Given the description of an element on the screen output the (x, y) to click on. 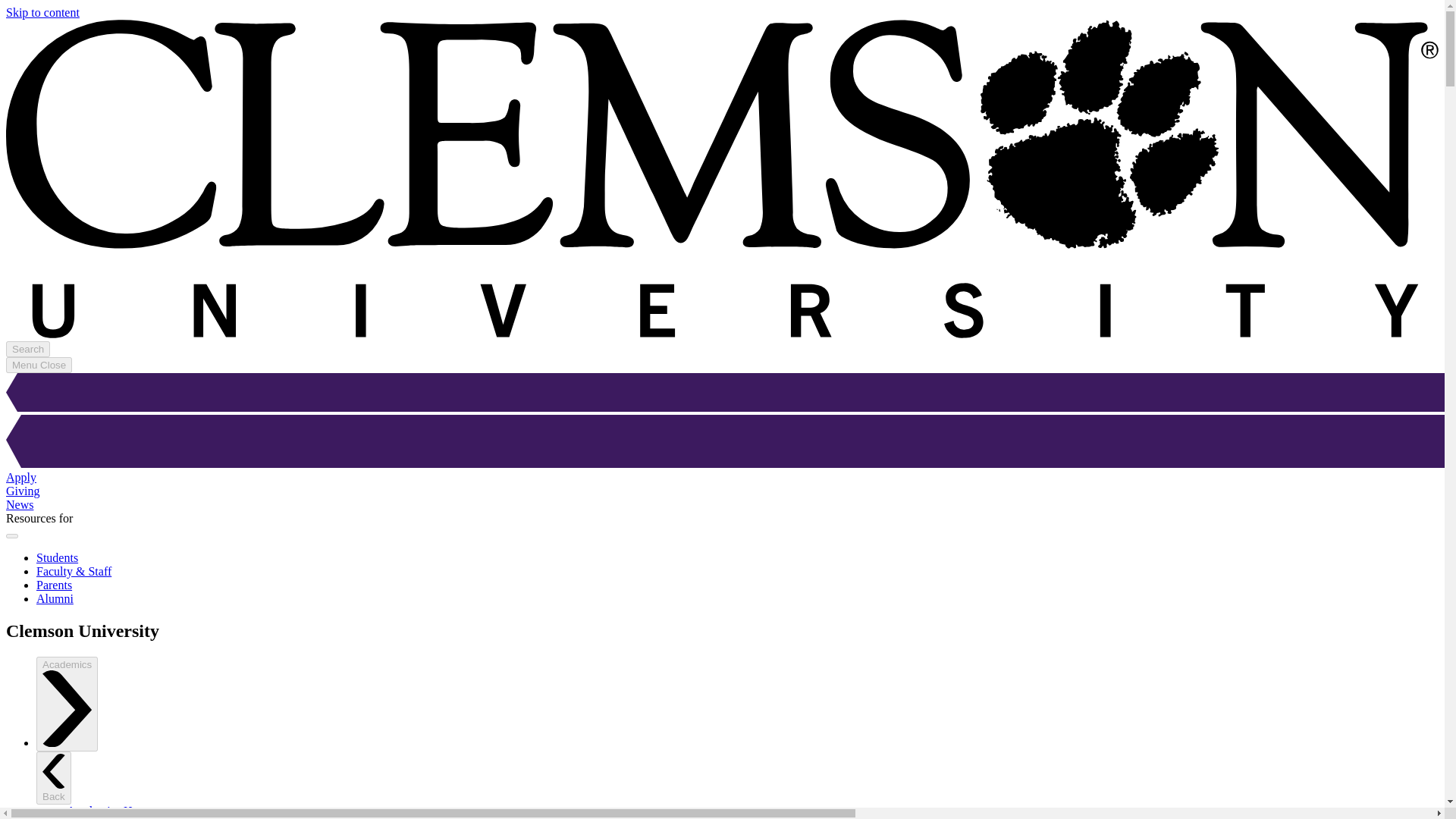
Sorry, your browser does not support inline SVG. (721, 442)
Skip to content (42, 11)
Alumni (55, 598)
Students (57, 557)
Search (27, 349)
Parents (53, 584)
Menu Close (38, 365)
